Given the description of an element on the screen output the (x, y) to click on. 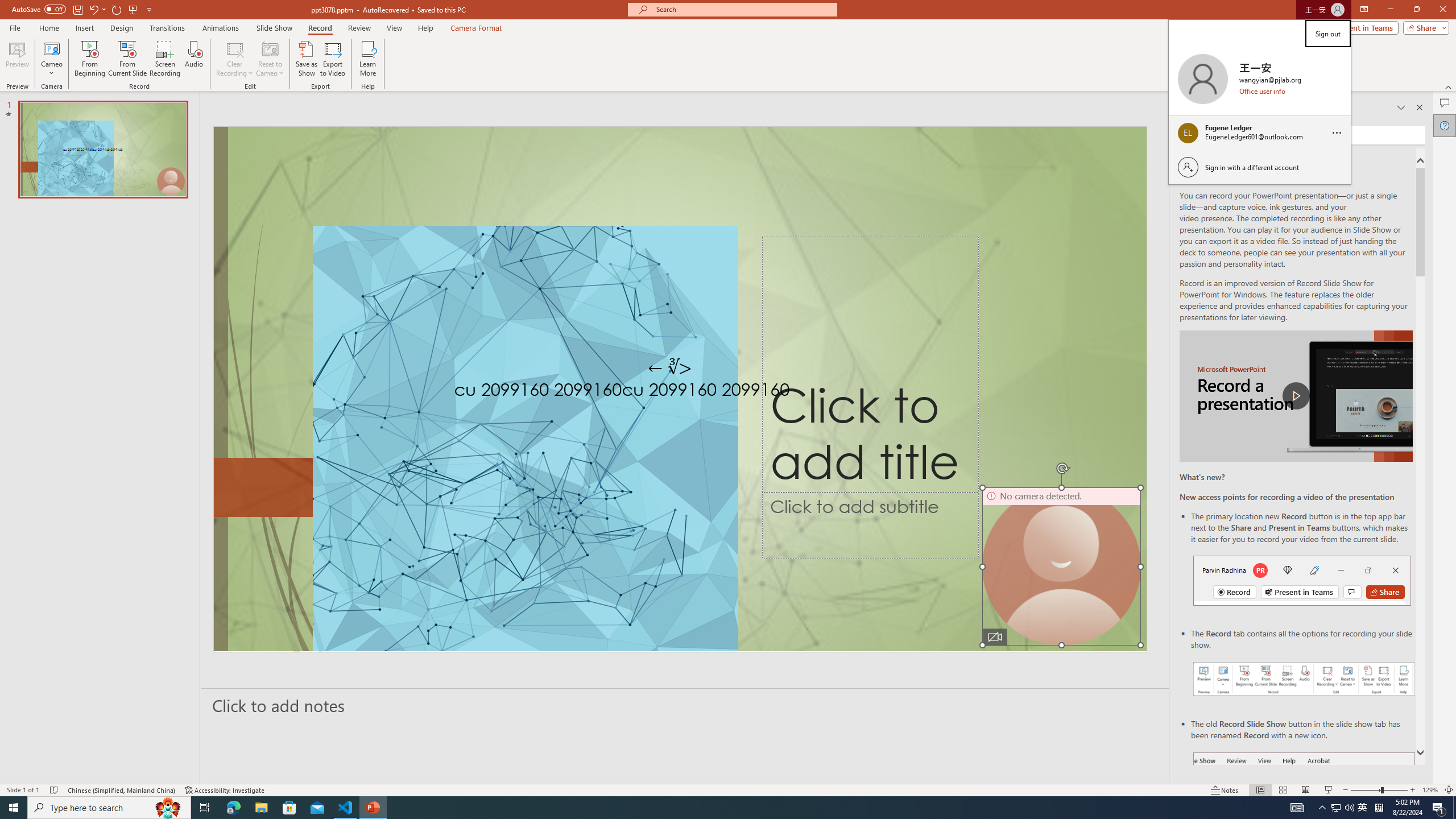
Zoom 129% (1430, 790)
Camera 9, No camera detected. (1061, 566)
Record button in top bar (1301, 580)
